Given the description of an element on the screen output the (x, y) to click on. 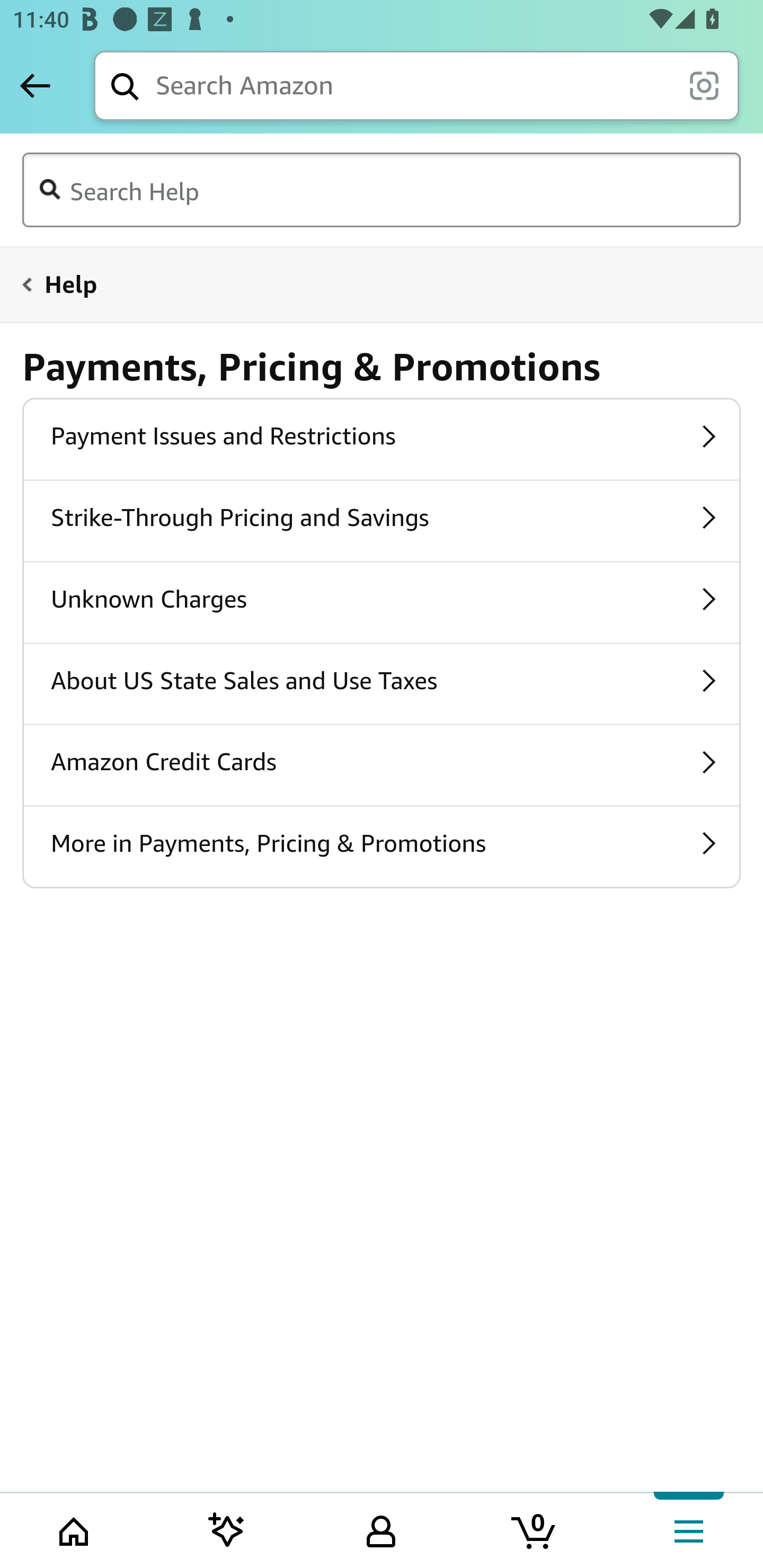
Back (35, 85)
Search Search Search Amazon scan it (416, 85)
scan it (704, 85)
Help (370, 284)
Payment Issues and Restrictions (381, 438)
Strike-Through Pricing and Savings (381, 520)
Unknown Charges (381, 601)
About US State Sales and Use Taxes (381, 683)
Amazon Credit Cards (381, 764)
More in Payments, Pricing & Promotions (381, 846)
Home Tab 1 of 5 (75, 1529)
Inspire feed Tab 2 of 5 (227, 1529)
Your Amazon.com Tab 3 of 5 (380, 1529)
Cart 0 item Tab 4 of 5 0 (534, 1529)
Browse menu Tab 5 of 5 (687, 1529)
